Given the description of an element on the screen output the (x, y) to click on. 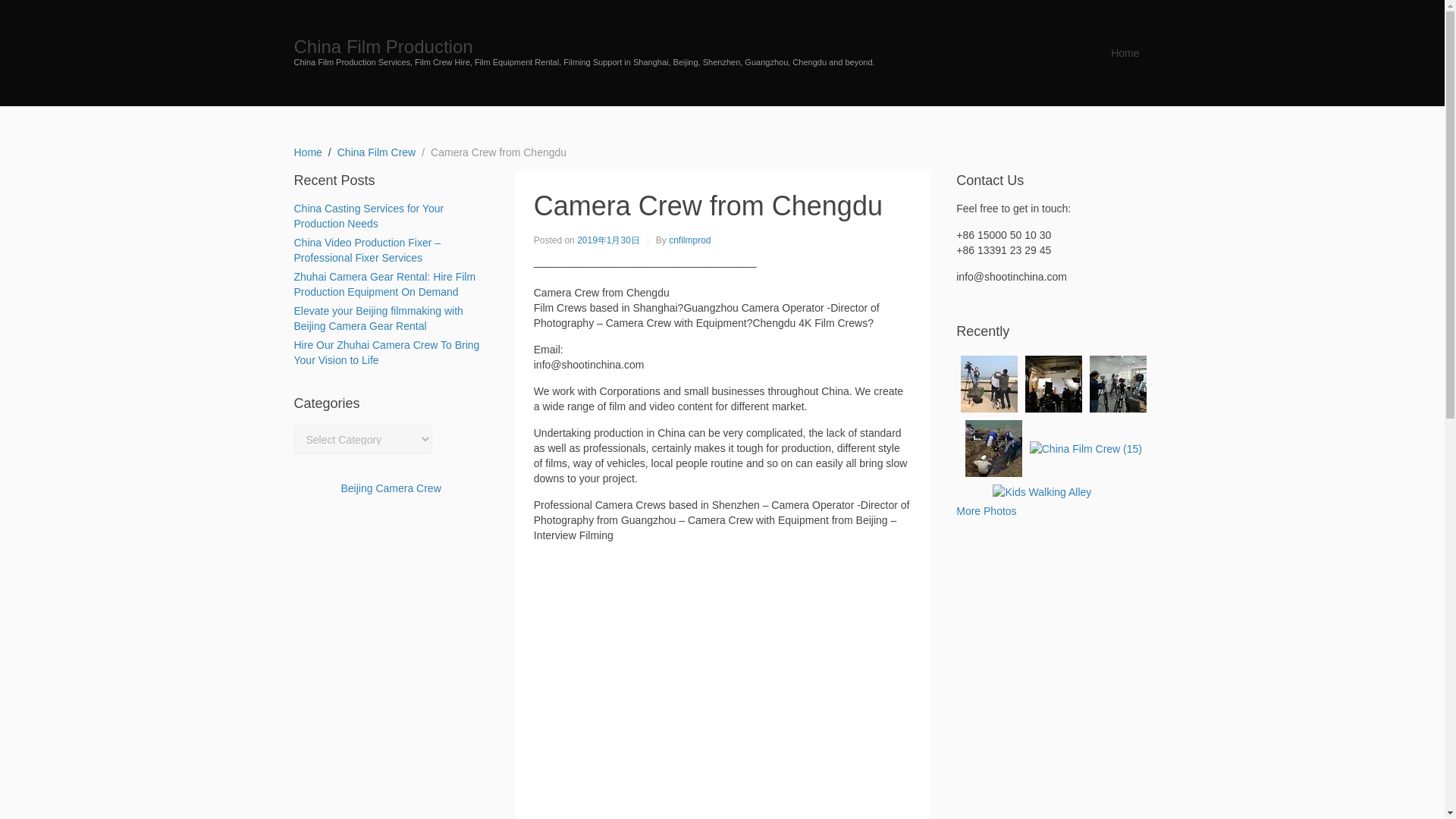
cnfilmprod (689, 240)
China Film Production (383, 46)
China Film Crew (375, 151)
More Photos (986, 510)
Kids Walking Alley (1041, 491)
Home (307, 151)
Hire Our Zhuhai Camera Crew To Bring Your Vision to Life (387, 352)
Beijing Camera Crew (390, 488)
